Given the description of an element on the screen output the (x, y) to click on. 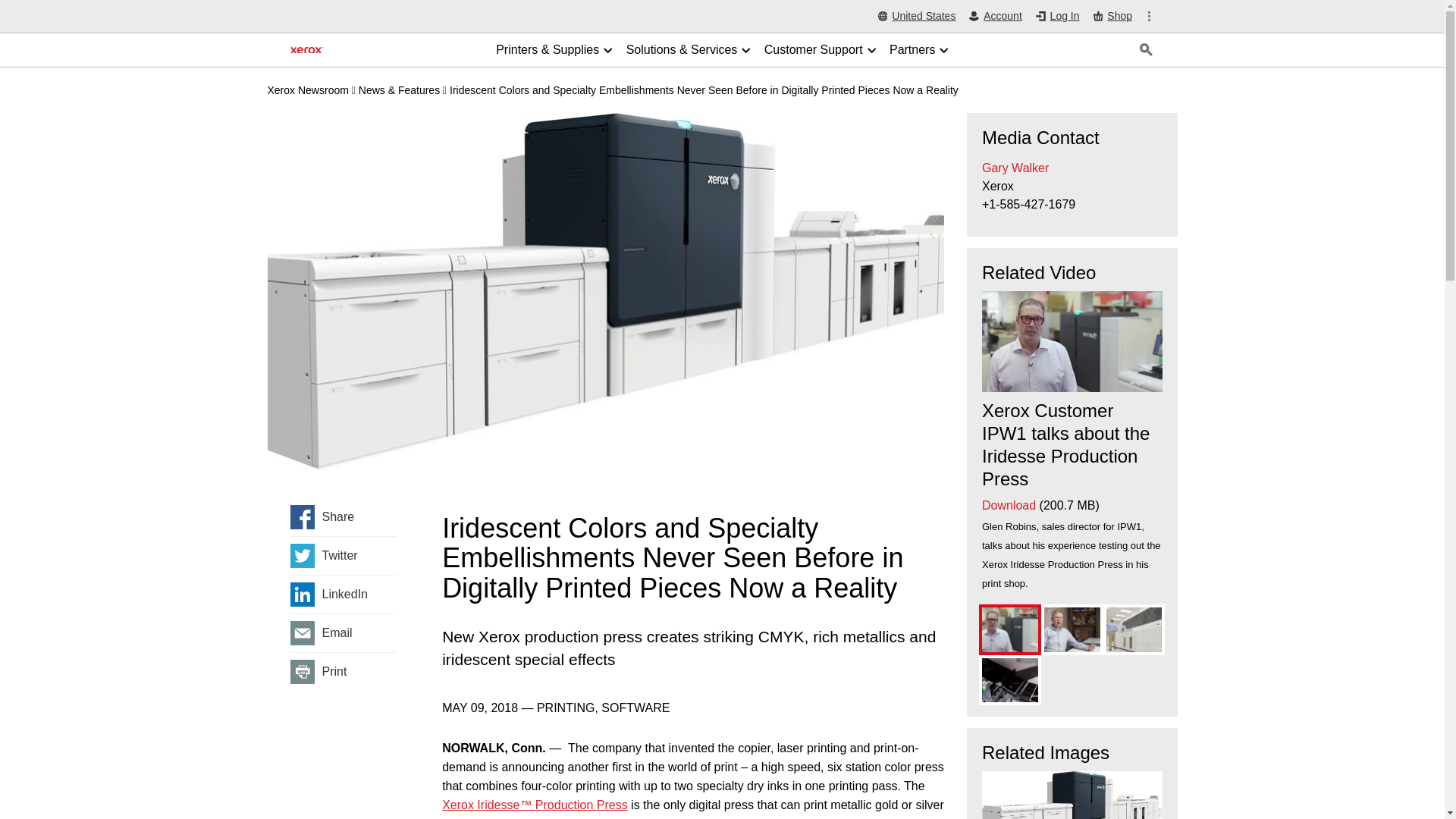
Customers of IPW1 and the Xerox Iridesse Production Press (1071, 629)
About the Xerox Iridesse Production Press (1133, 629)
United States (916, 16)
Shop (1112, 16)
Account (995, 16)
Demo of the Xerox Iridesse Production Press (1009, 680)
Log In (1057, 16)
